Given the description of an element on the screen output the (x, y) to click on. 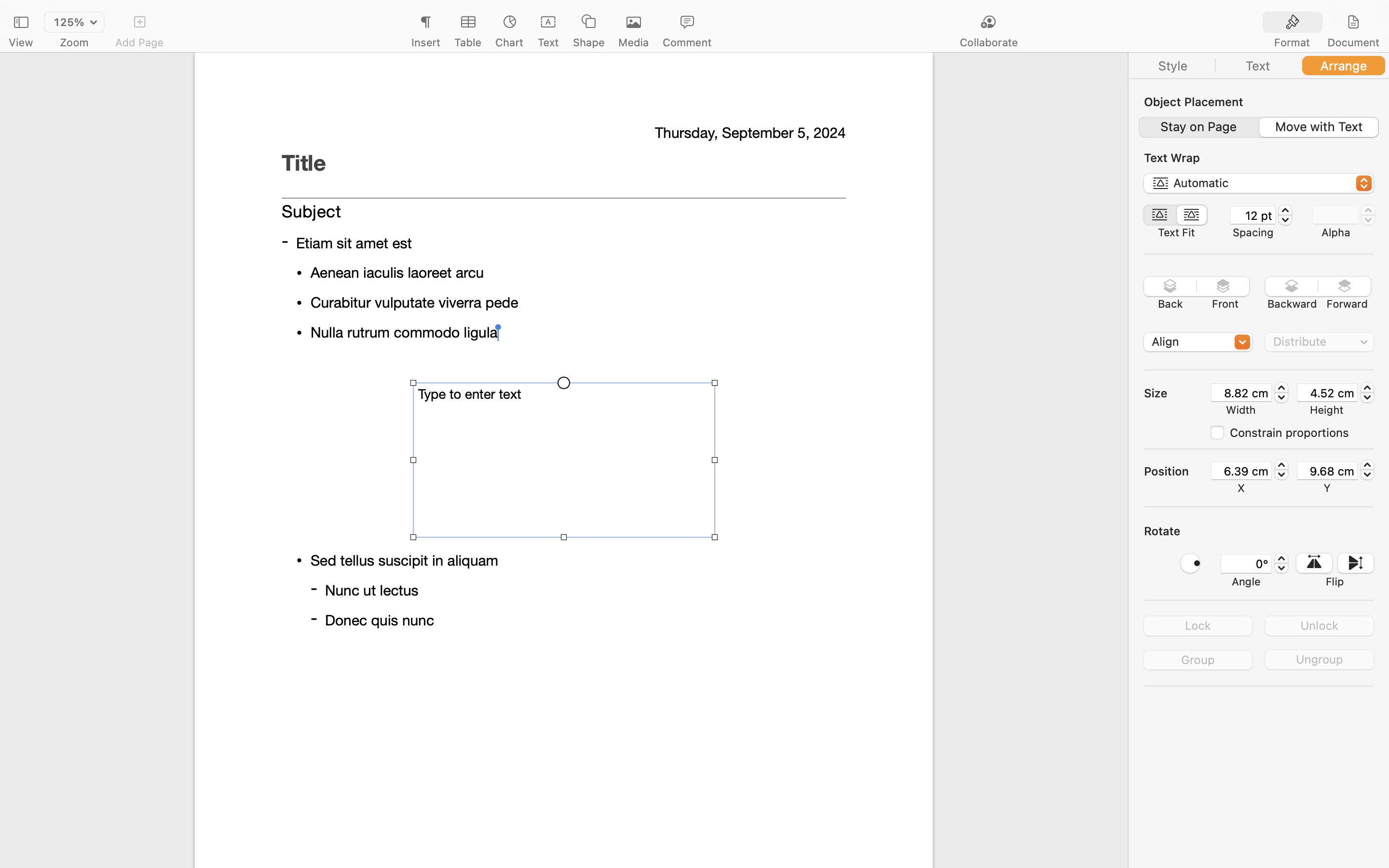
Width Element type: AXStaticText (1240, 409)
View Element type: AXStaticText (20, 42)
Zoom Element type: AXStaticText (73, 42)
<AXUIElement 0x293d52790> {pid=1482} Element type: AXRadioGroup (1258, 65)
Object Placement Element type: AXStaticText (1193, 101)
